Given the description of an element on the screen output the (x, y) to click on. 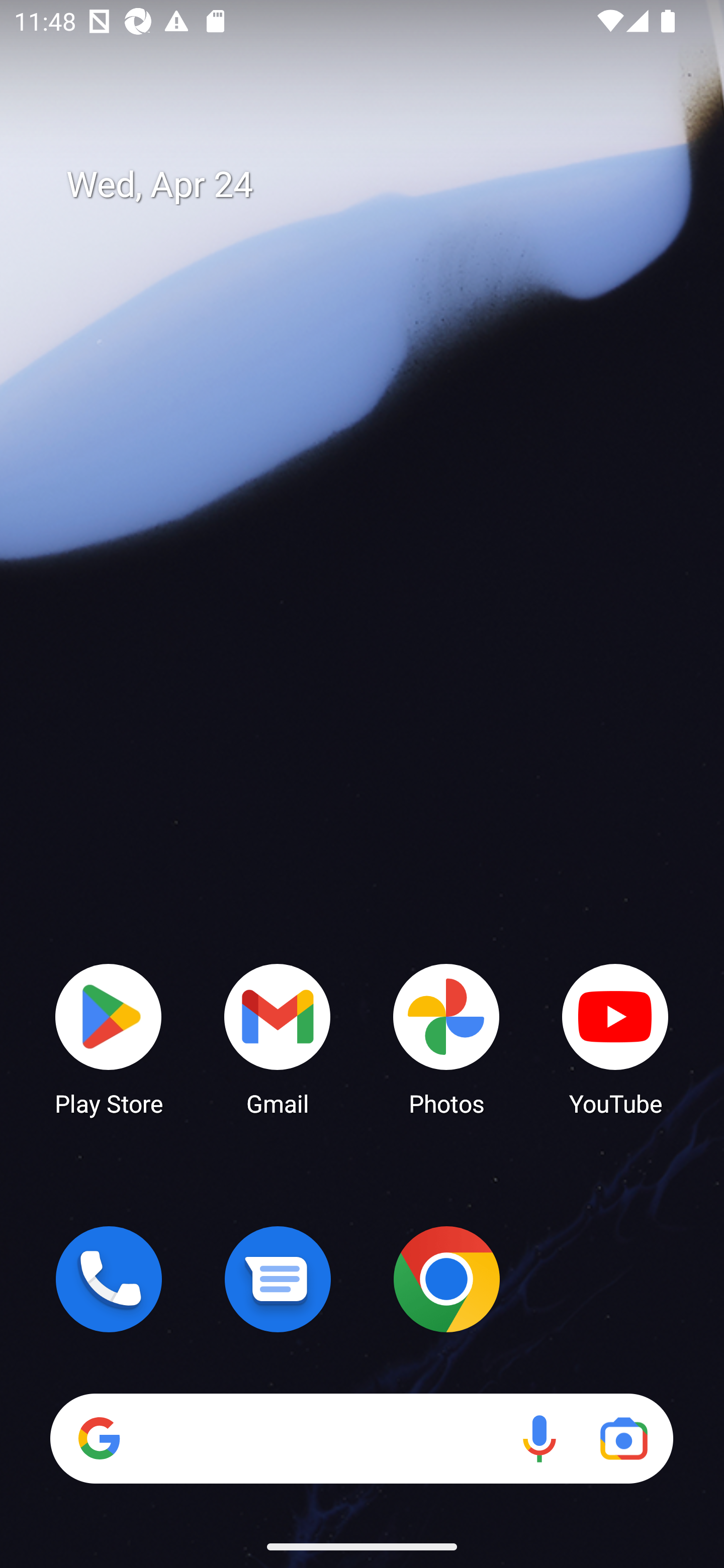
Wed, Apr 24 (375, 184)
Play Store (108, 1038)
Gmail (277, 1038)
Photos (445, 1038)
YouTube (615, 1038)
Phone (108, 1279)
Messages (277, 1279)
Chrome (446, 1279)
Search Voice search Google Lens (361, 1438)
Voice search (539, 1438)
Google Lens (623, 1438)
